Given the description of an element on the screen output the (x, y) to click on. 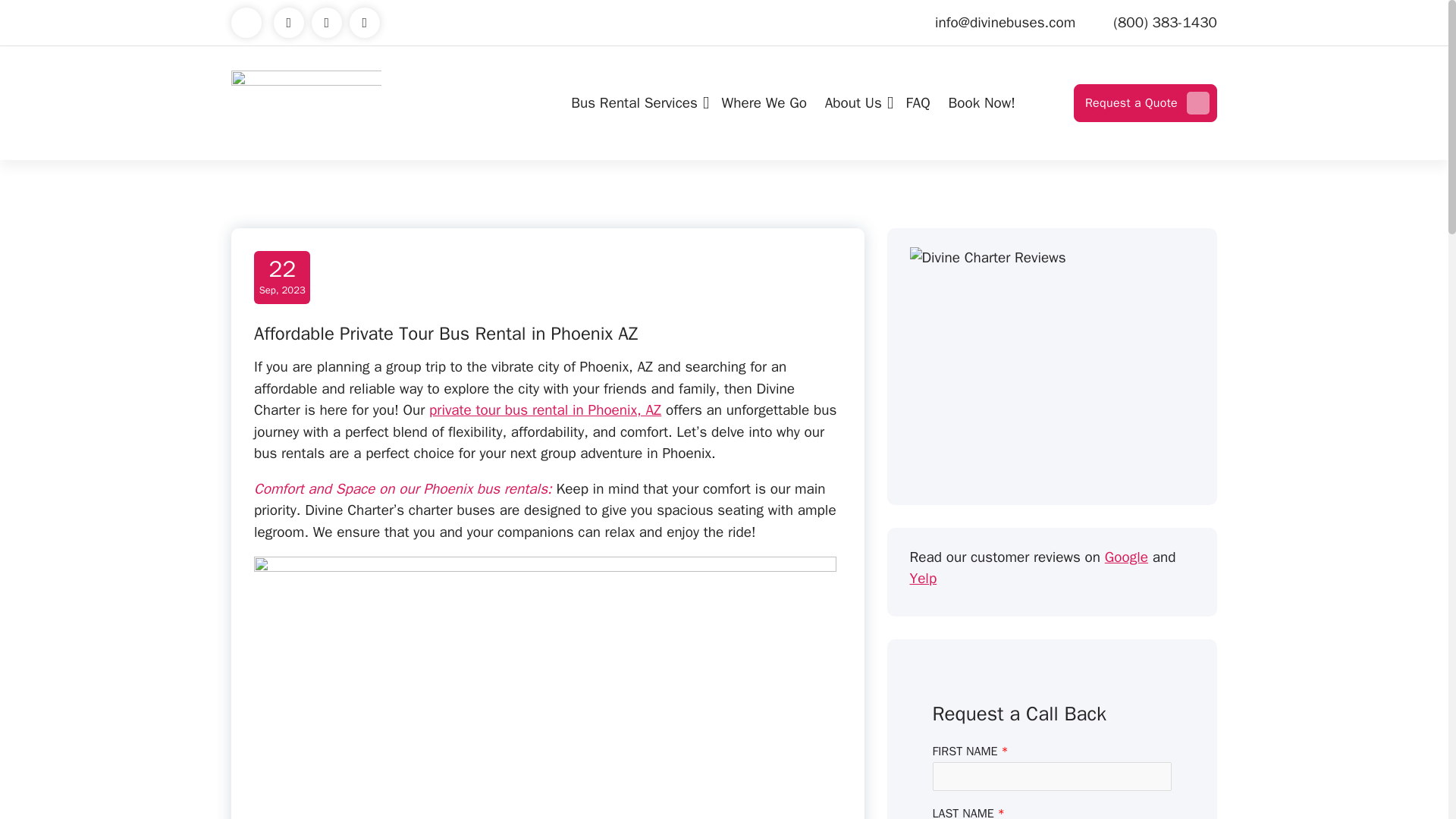
Book Now! (981, 102)
private tour bus rental in Phoenix, AZ (545, 410)
Request a Quote (1145, 103)
Bus Rental Services (637, 102)
Where We Go (282, 277)
FAQ (764, 102)
Bus Rental Services (917, 102)
About Us (637, 102)
About Us (855, 102)
